Given the description of an element on the screen output the (x, y) to click on. 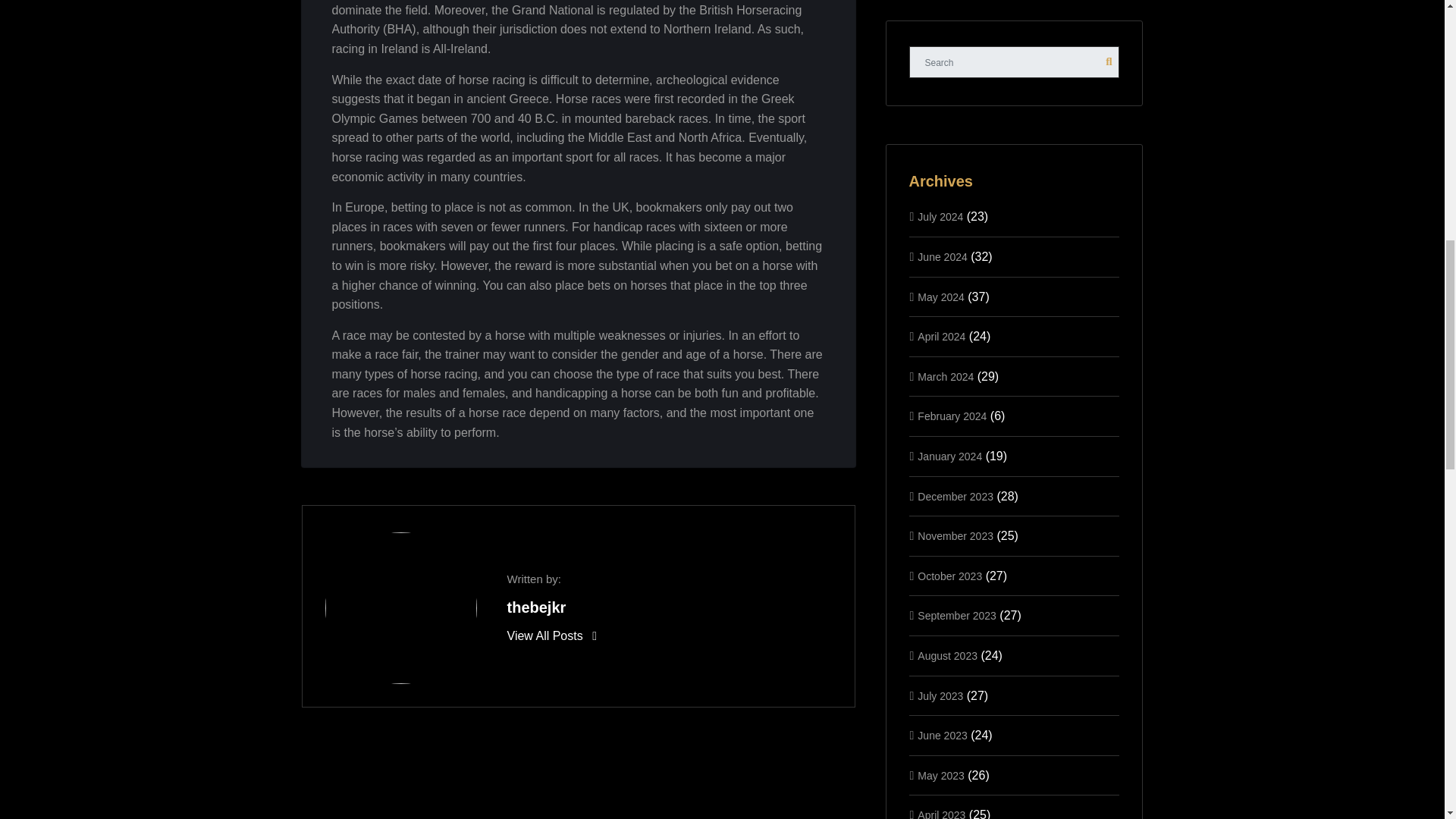
January 2024 (949, 456)
October 2023 (949, 576)
June 2023 (941, 735)
November 2023 (954, 535)
April 2024 (941, 336)
March 2024 (945, 377)
February 2024 (952, 416)
July 2024 (939, 216)
July 2023 (939, 695)
View All Posts (550, 635)
May 2024 (940, 297)
September 2023 (956, 615)
December 2023 (954, 496)
August 2023 (946, 655)
June 2024 (941, 256)
